Given the description of an element on the screen output the (x, y) to click on. 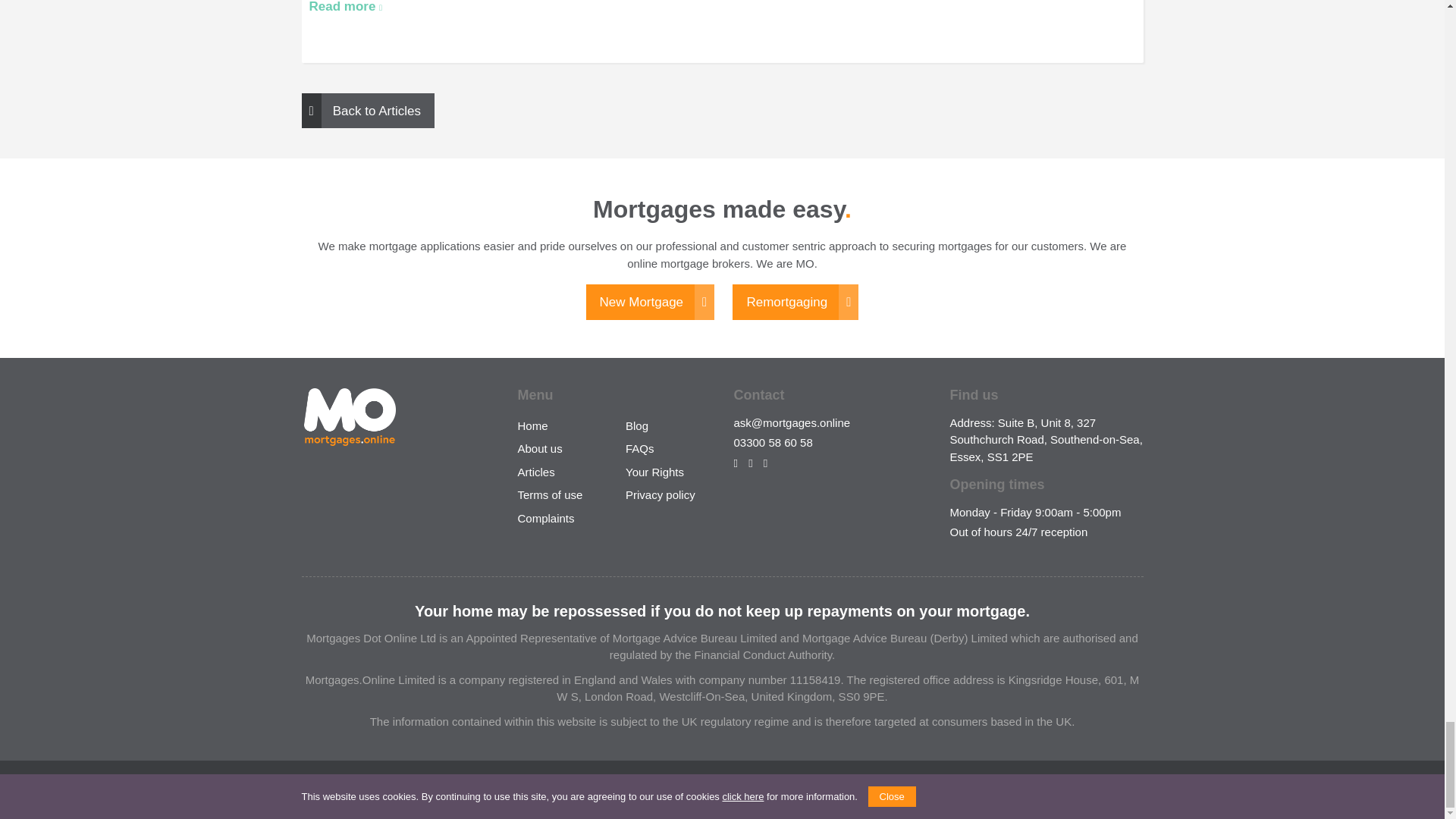
Blog (636, 424)
Articles (535, 472)
FAQs (639, 448)
About us (539, 448)
Privacy policy (660, 494)
Home (531, 424)
New Mortgage (650, 301)
Terms of use (549, 494)
Back to Articles (367, 110)
Remortgaging (795, 301)
Your Rights (655, 472)
